Given the description of an element on the screen output the (x, y) to click on. 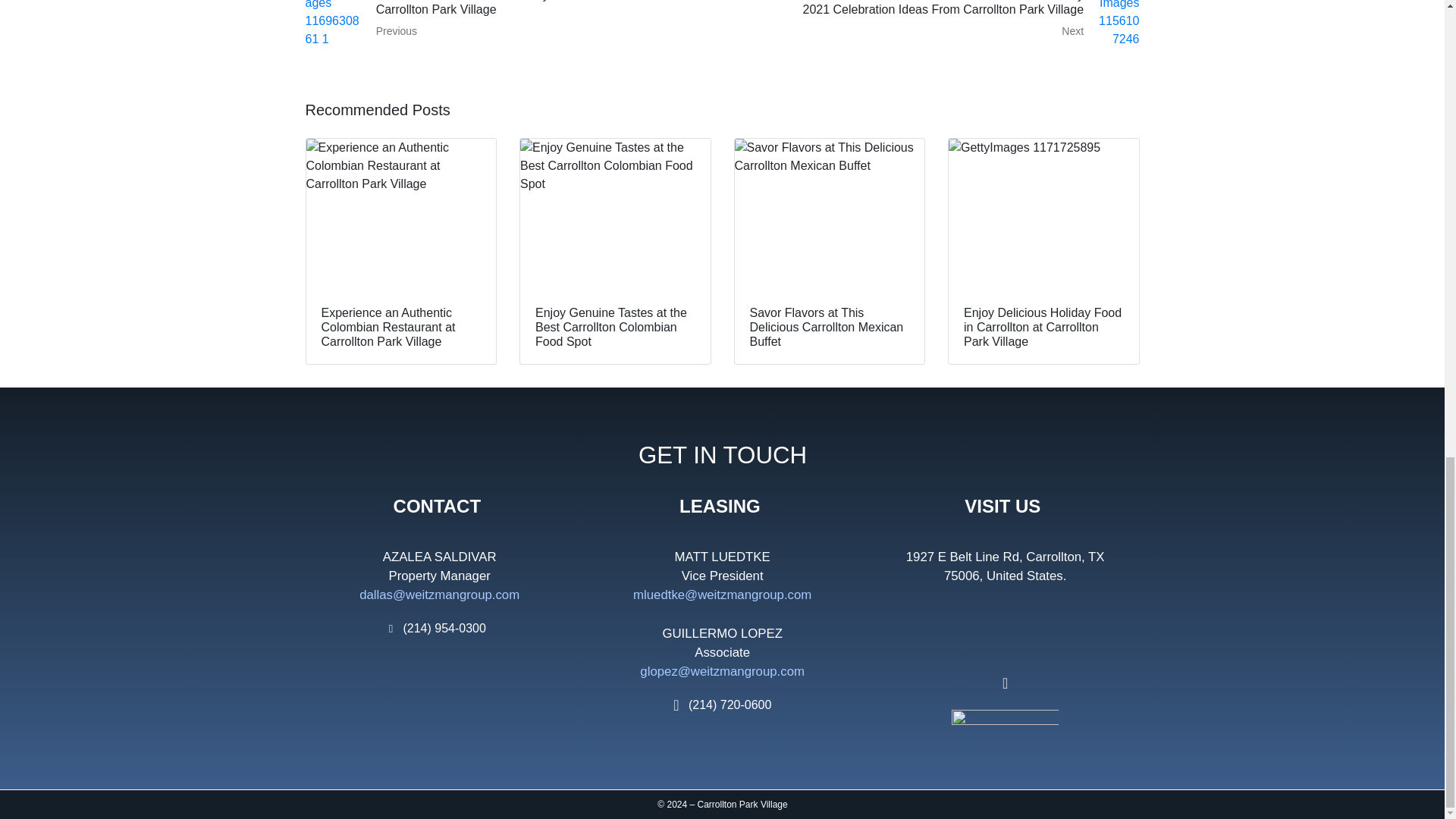
Savor Flavors at This Delicious Carrollton Mexican Buffet 5 (828, 214)
